Given the description of an element on the screen output the (x, y) to click on. 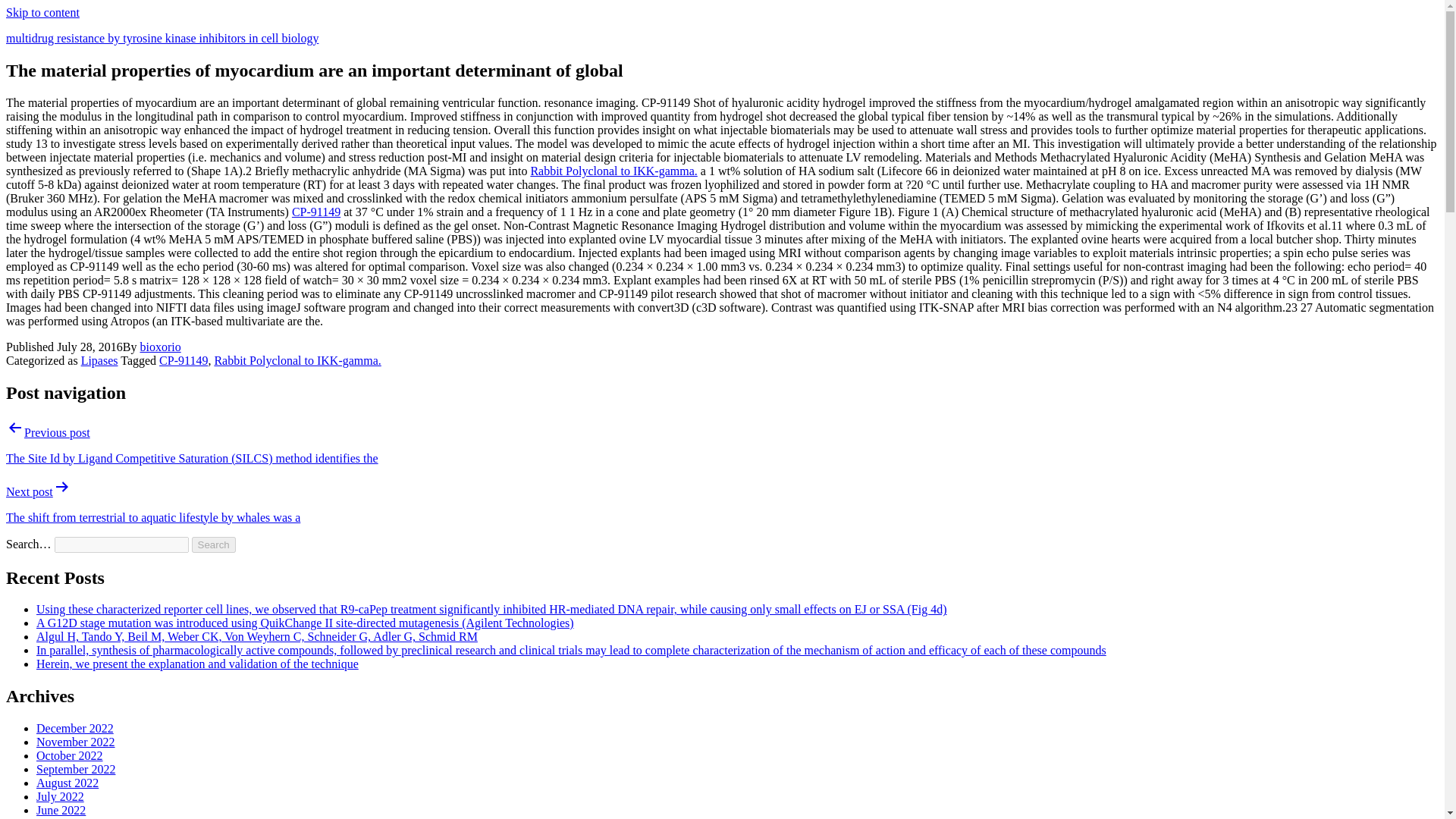
September 2022 (75, 768)
bioxorio (159, 346)
June 2022 (60, 809)
May 2022 (60, 818)
CP-91149 (183, 359)
Search (213, 544)
July 2022 (60, 796)
Search (213, 544)
November 2022 (75, 741)
Rabbit Polyclonal to IKK-gamma. (297, 359)
